Given the description of an element on the screen output the (x, y) to click on. 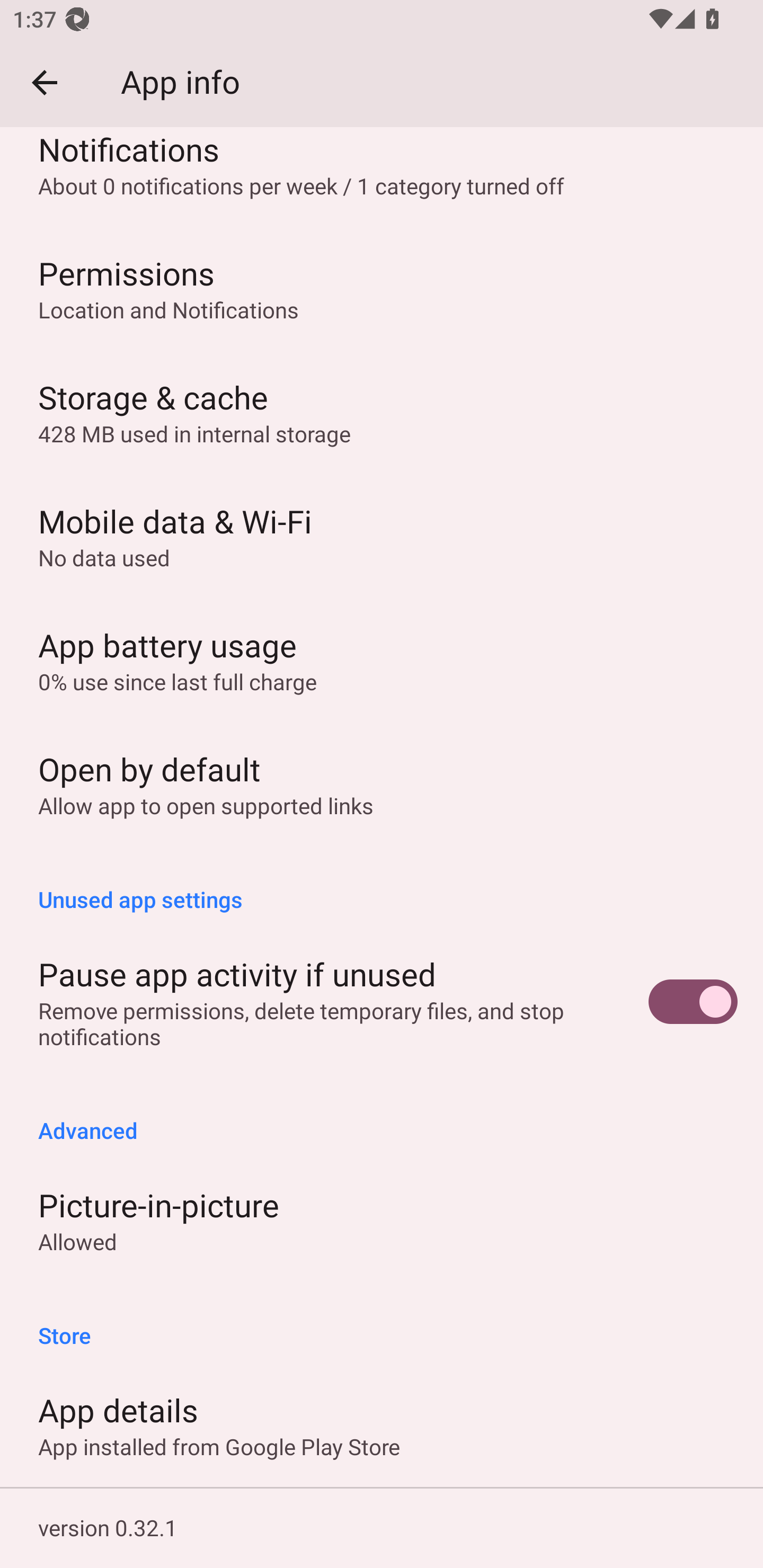
Navigate up (44, 82)
Permissions Location and Notifications (381, 287)
Storage & cache 428 MB used in internal storage (381, 411)
Mobile data & Wi‑Fi No data used (381, 535)
App battery usage 0% use since last full charge (381, 659)
Open by default Allow app to open supported links (381, 783)
Picture-in-picture Allowed (381, 1220)
App details App installed from Google Play Store (381, 1424)
